Given the description of an element on the screen output the (x, y) to click on. 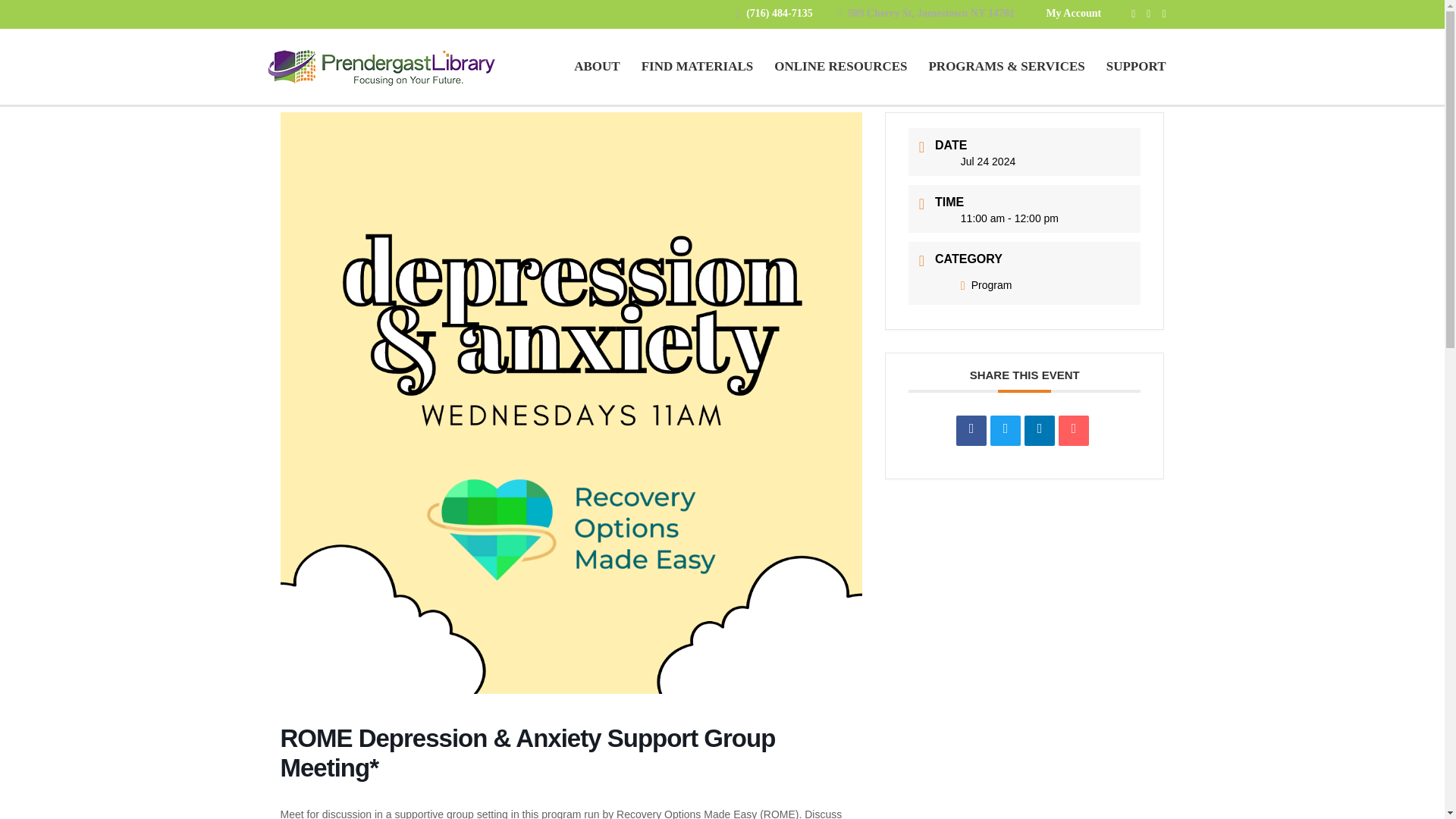
My Account (1072, 12)
Tweet (1005, 430)
Linkedin (1039, 430)
Email (1073, 430)
Share on Facebook (971, 430)
